Given the description of an element on the screen output the (x, y) to click on. 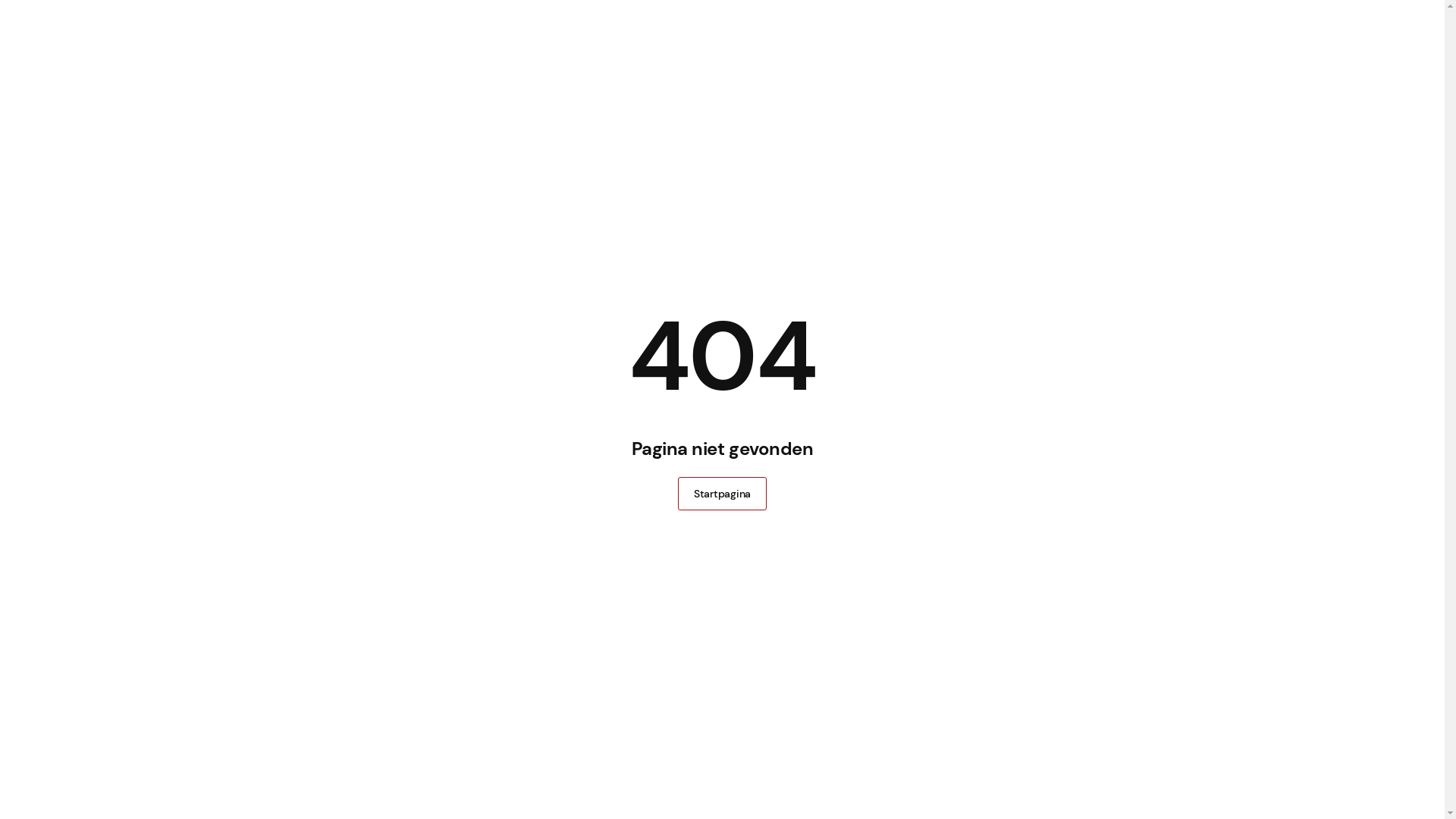
Startpagina Element type: text (721, 493)
